Given the description of an element on the screen output the (x, y) to click on. 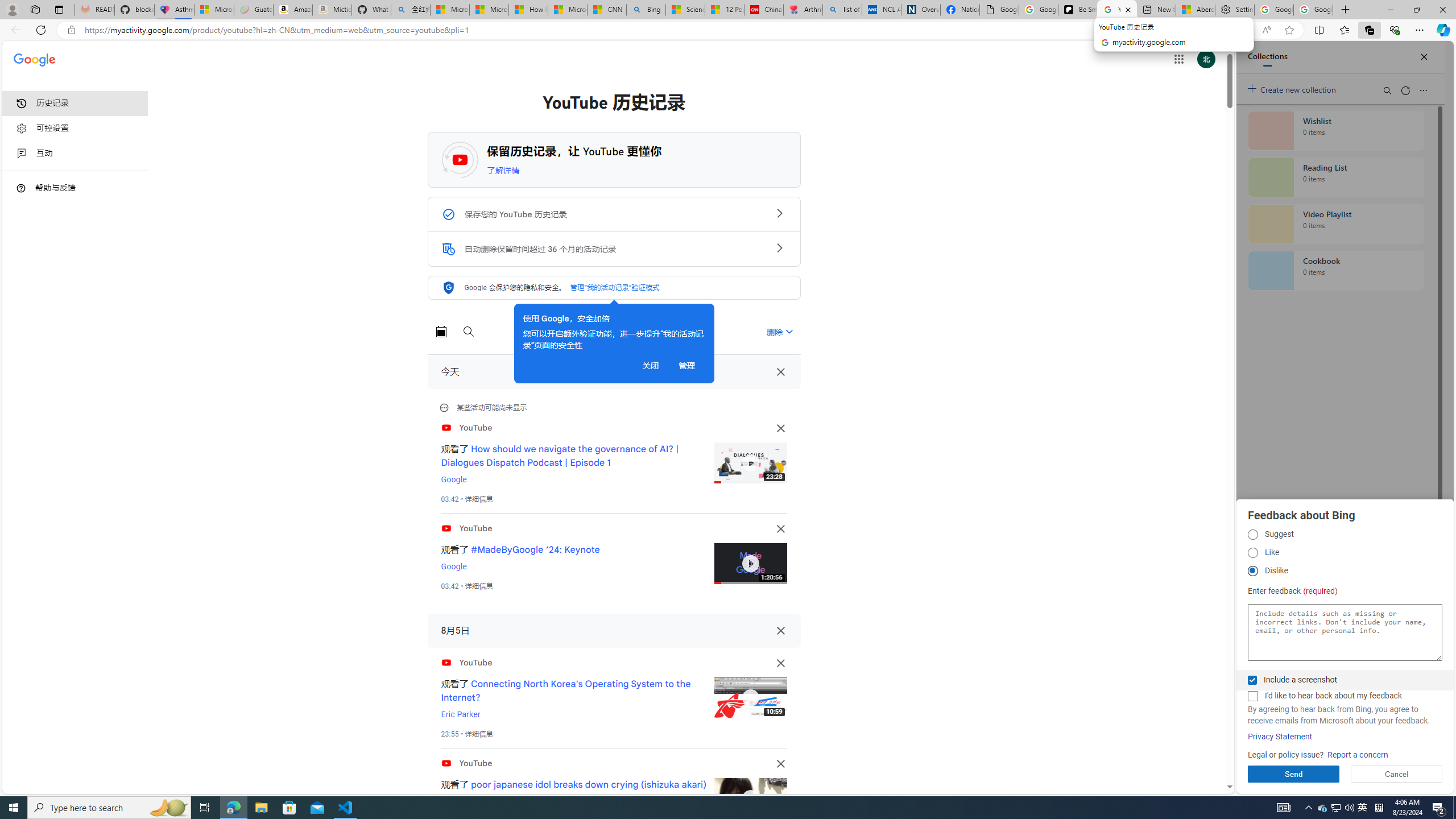
Privacy Statement (1280, 737)
AutomationID: fbpgdgtp3 (1252, 570)
Connecting North Korea's Operating System to the Internet? (566, 690)
Be Smart | creating Science videos | Patreon (1077, 9)
Class: IVR0f NMm5M (750, 798)
Include a screenshot Include a screenshot (1251, 679)
